Given the description of an element on the screen output the (x, y) to click on. 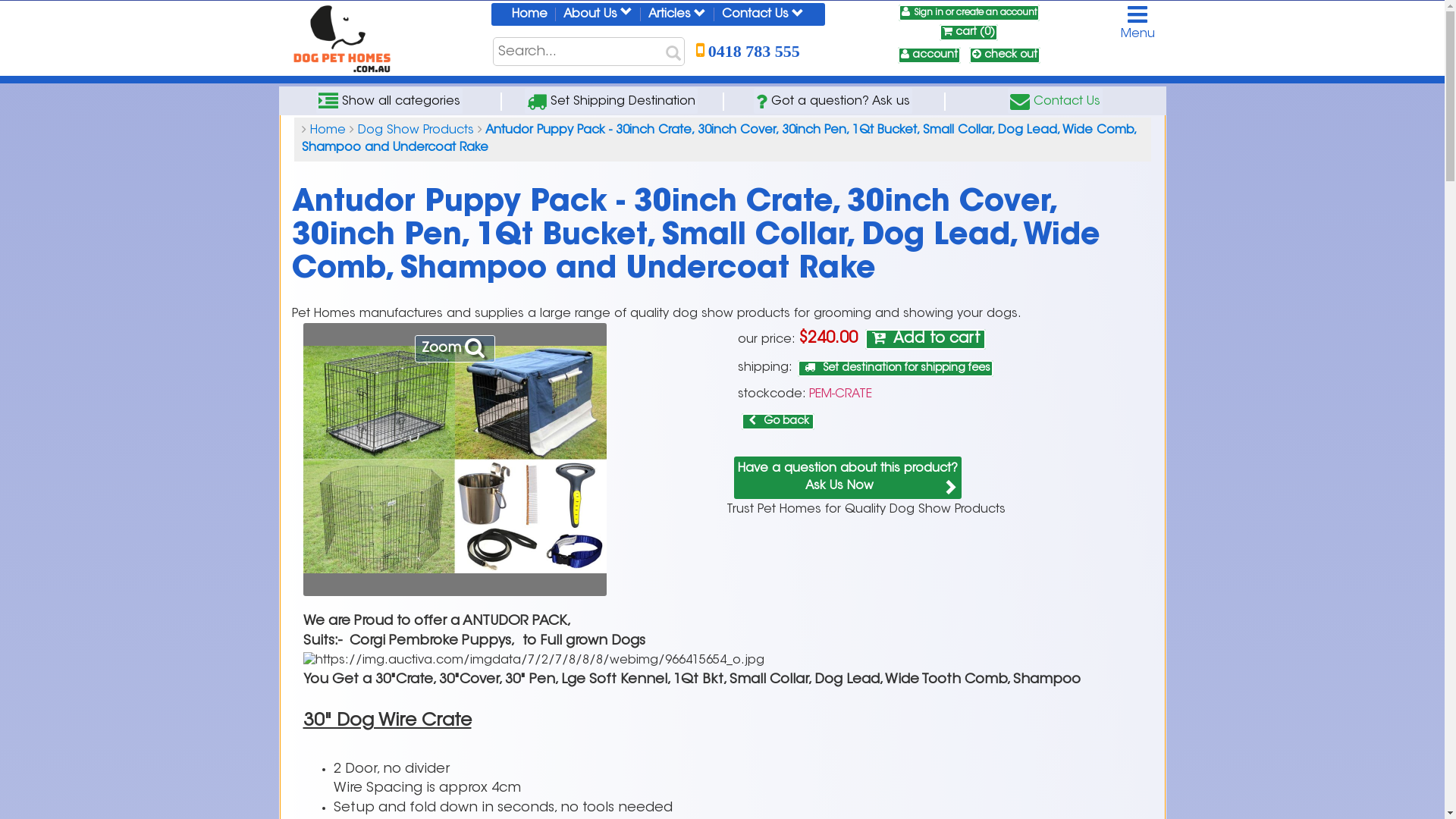
account Element type: text (928, 55)
Set destination for shipping fees Element type: text (895, 368)
Sign in or create an account Element type: text (967, 12)
cart (0) Element type: text (968, 32)
About Us Element type: text (597, 13)
Add to cart Element type: text (924, 339)
Show all categories Element type: text (389, 100)
check out Element type: text (1004, 55)
Got a question? Ask us Element type: text (832, 100)
Have a question about this product?
Ask Us Now Element type: text (847, 477)
Articles Element type: text (676, 13)
0418 783 555 Element type: text (748, 51)
Contact Us Element type: text (1054, 100)
Home Element type: text (327, 130)
Dog Show Products Element type: text (415, 130)
Contact Us Element type: text (762, 13)
Go back Element type: text (777, 421)
Home Element type: text (529, 13)
Zoom Element type: text (454, 348)
Set Shipping Destination Element type: text (610, 100)
Menu Element type: text (1137, 21)
Pet Homes Direct Element type: hover (340, 40)
